Given the description of an element on the screen output the (x, y) to click on. 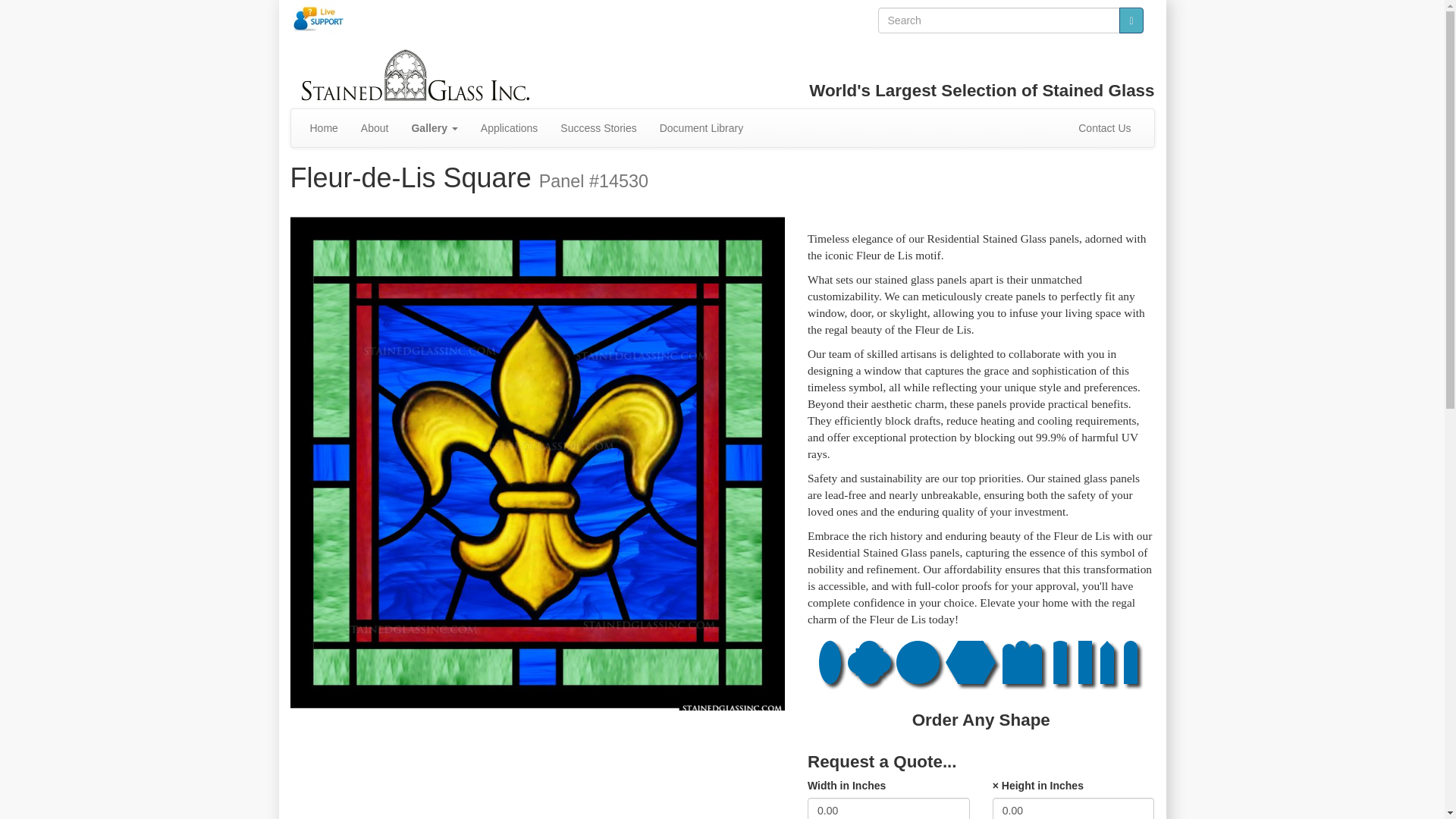
Gallery (433, 127)
Home (323, 127)
Document Library (701, 127)
Success Stories (597, 127)
Applications (509, 127)
0.00 (888, 808)
Contact Us (1104, 127)
0.00 (1073, 808)
About (374, 127)
